Given the description of an element on the screen output the (x, y) to click on. 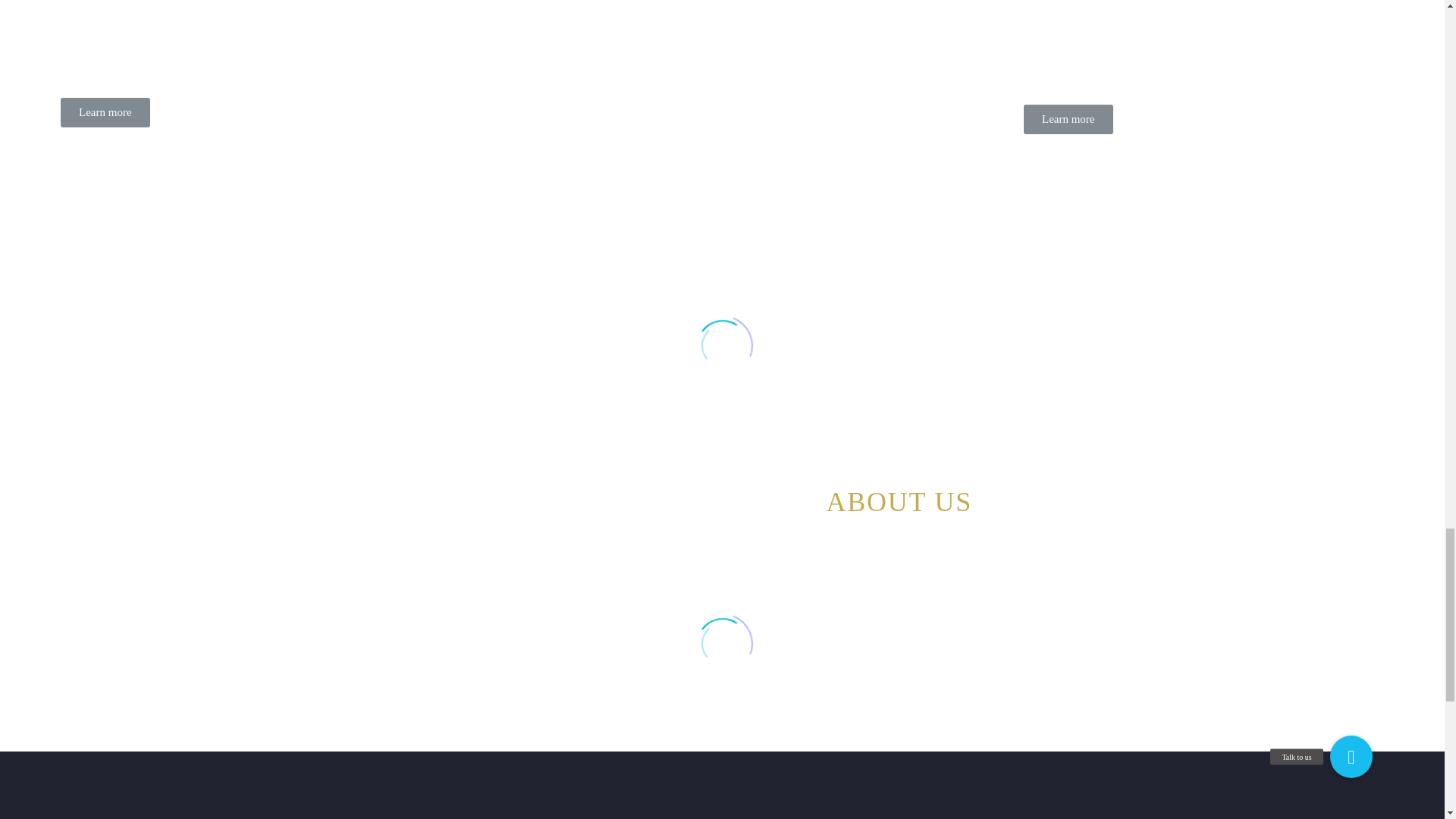
Learn more (105, 112)
Learn more (1068, 119)
